Given the description of an element on the screen output the (x, y) to click on. 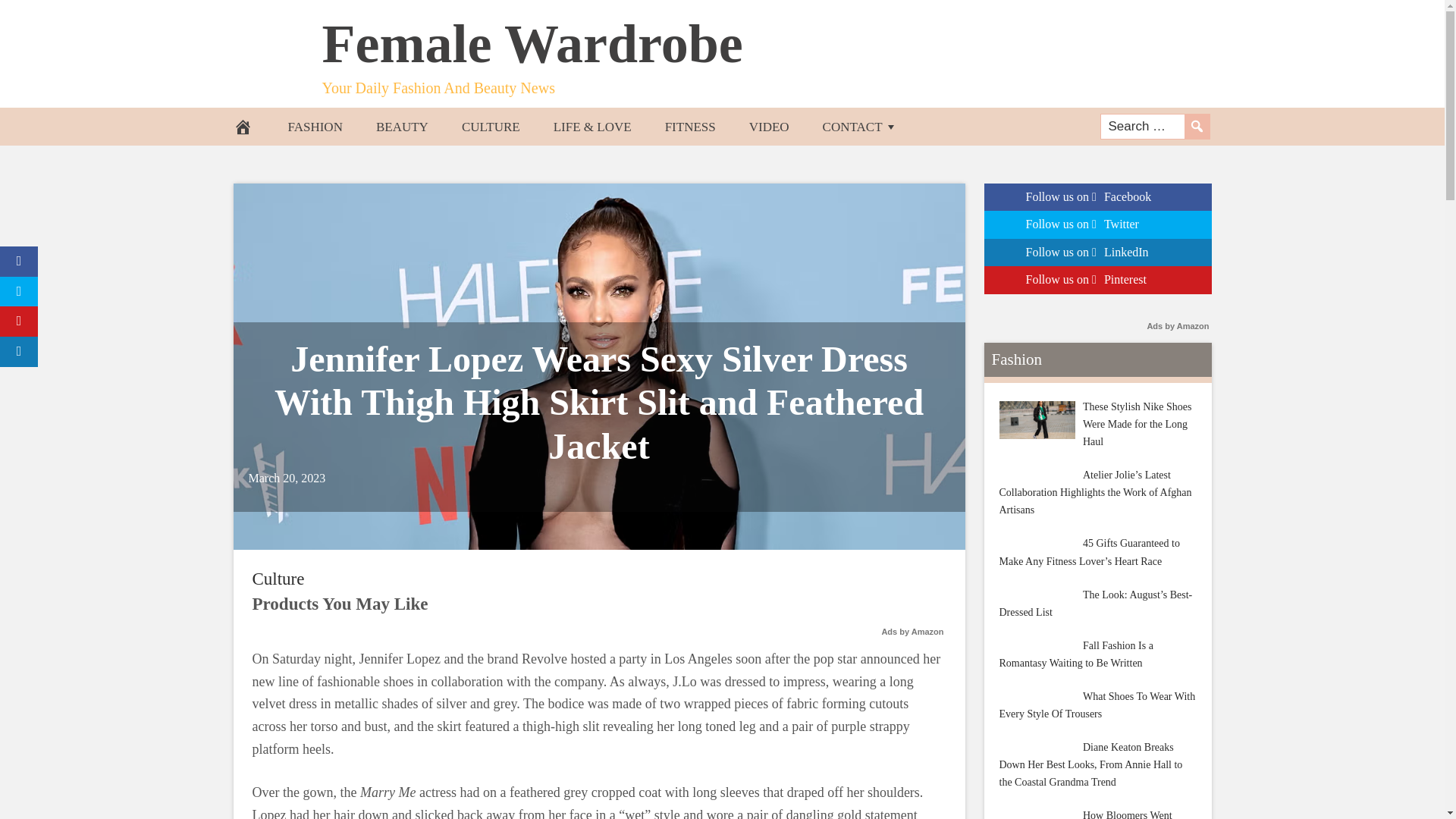
CULTURE (491, 126)
FITNESS (689, 126)
Culture (277, 578)
BEAUTY (402, 126)
Female Wardrobe (531, 43)
Ads by Amazon (911, 631)
Culture (277, 578)
FASHION (314, 126)
CONTACT (860, 126)
VIDEO (769, 126)
